Given the description of an element on the screen output the (x, y) to click on. 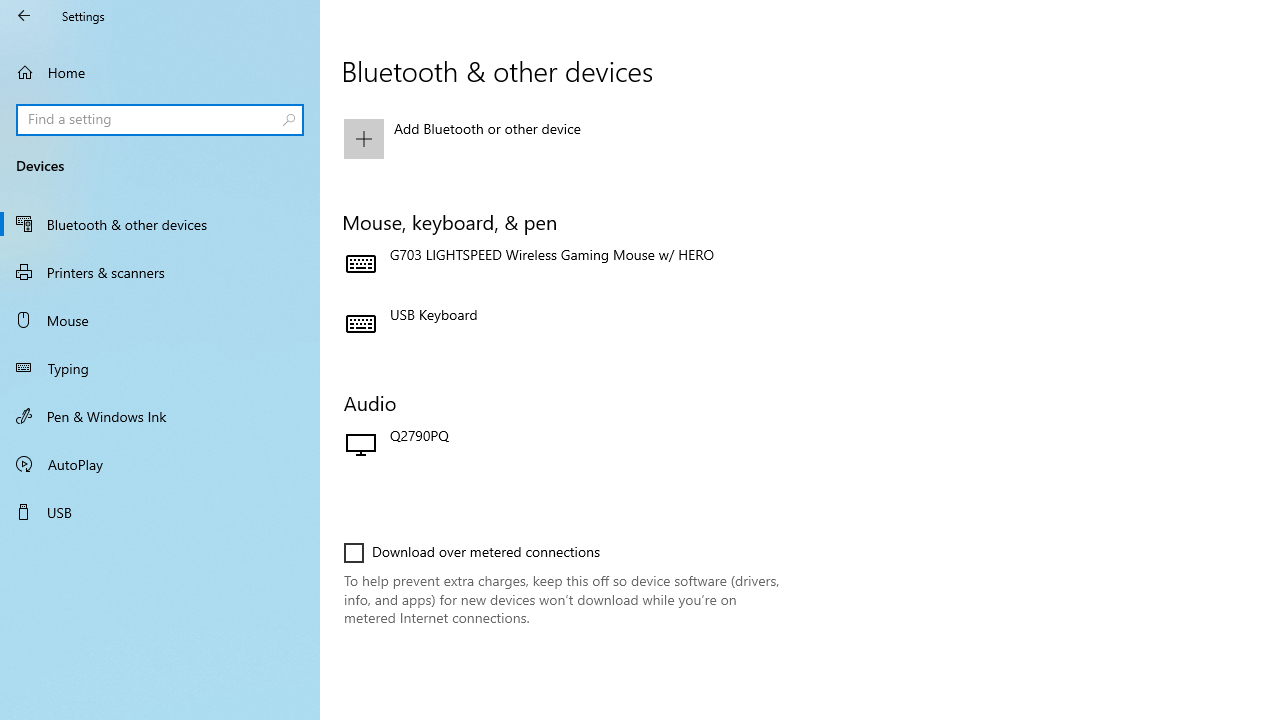
Back (24, 15)
G703 LIGHTSPEED Wireless Gaming Mouse w/ HERO Type: Keyboard (563, 264)
Home (160, 71)
Printers & scanners (160, 271)
Bluetooth & other devices (160, 223)
USB Keyboard Type: Keyboard (563, 324)
Download over metered connections (472, 552)
AutoPlay (160, 463)
Search box, Find a setting (160, 119)
Typing (160, 367)
Add Bluetooth or other device (563, 138)
Mouse (160, 319)
USB (160, 511)
Pen & Windows Ink (160, 415)
Q2790PQ Type: Display device (563, 445)
